Given the description of an element on the screen output the (x, y) to click on. 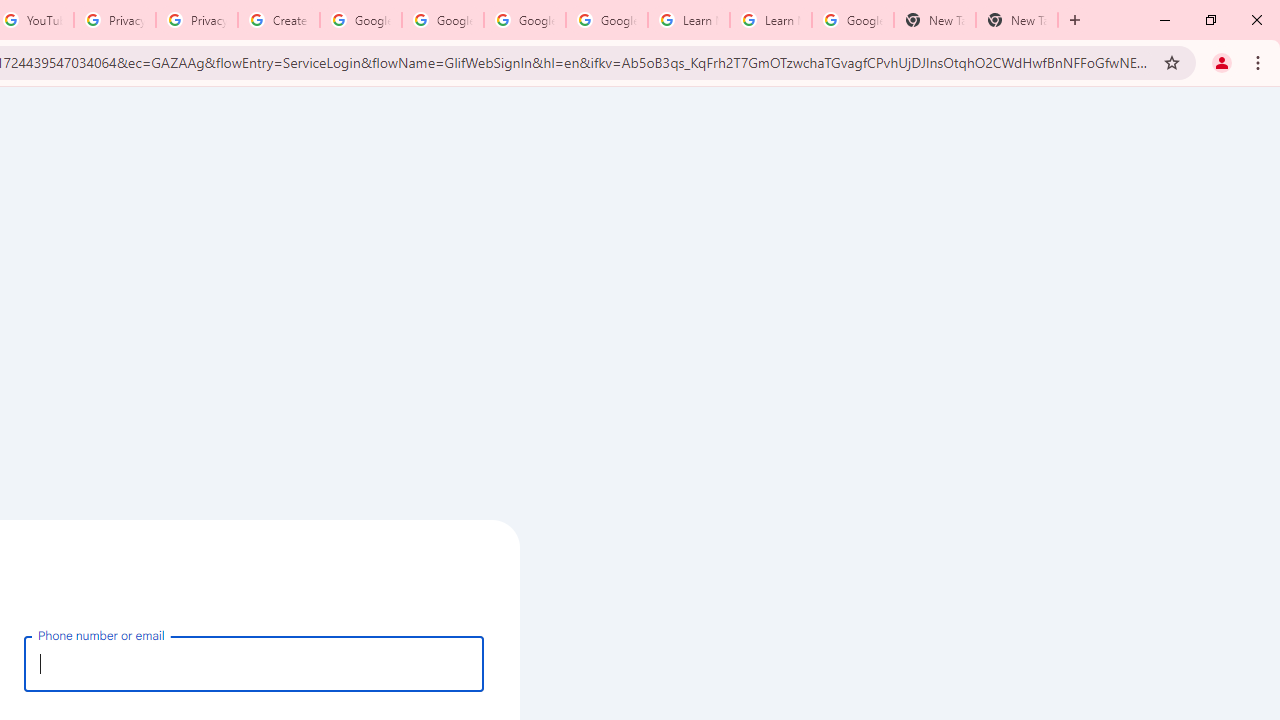
Google Account (852, 20)
New Tab (934, 20)
Google Account Help (360, 20)
Phone number or email (253, 663)
Create your Google Account (278, 20)
Google Account Help (442, 20)
